Given the description of an element on the screen output the (x, y) to click on. 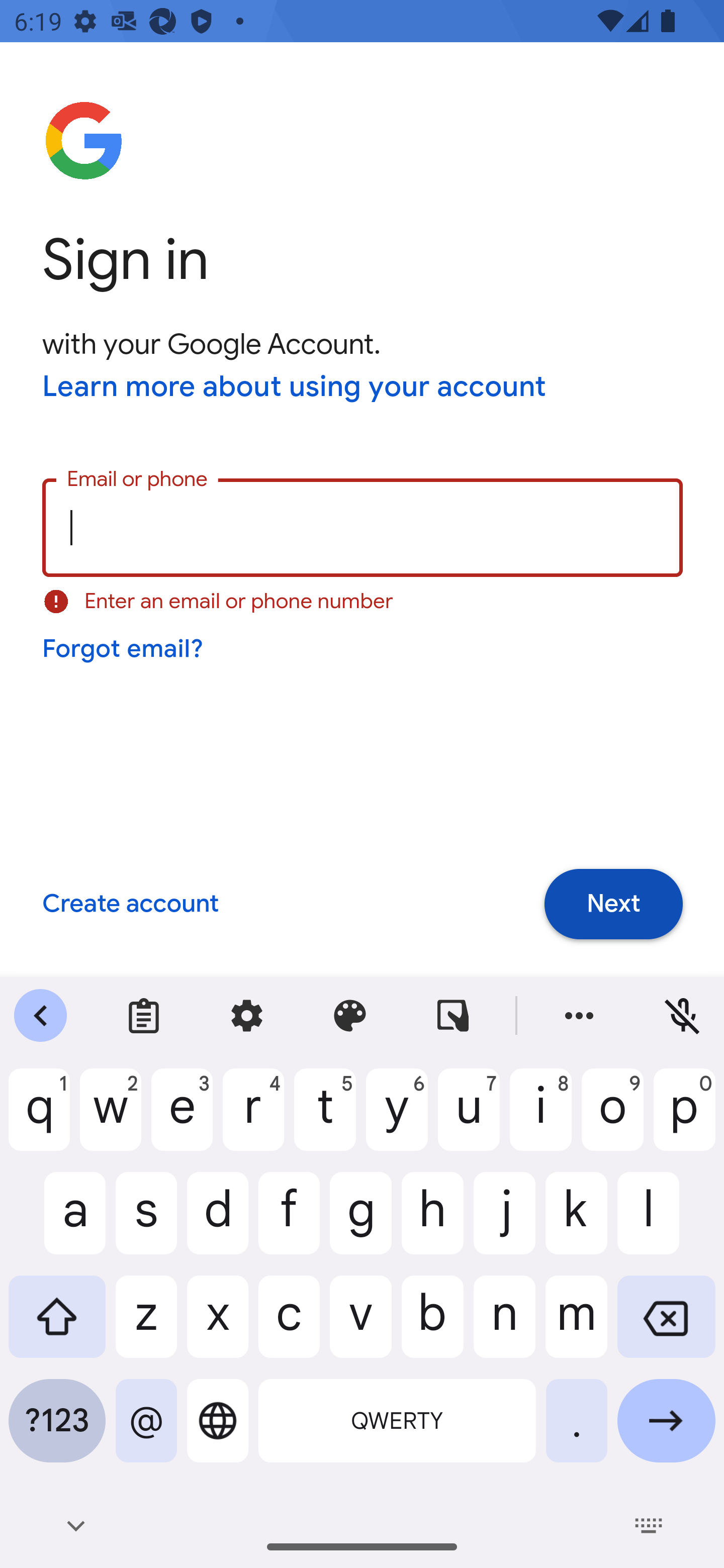
Learn more about using your account (294, 388)
Forgot email? (123, 648)
Create account (129, 904)
Next (613, 904)
